Given the description of an element on the screen output the (x, y) to click on. 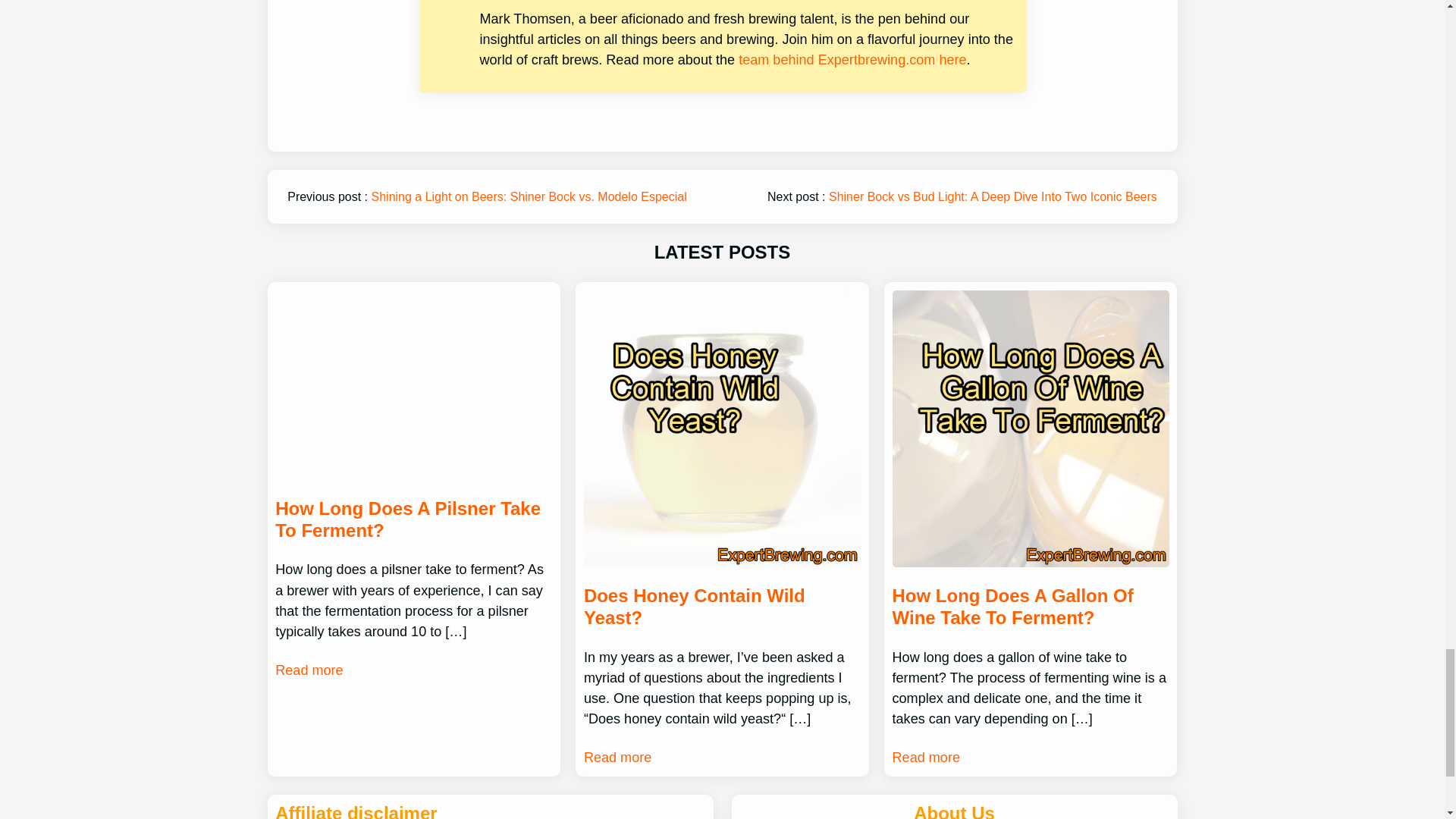
Does Honey Contain Wild Yeast? (721, 607)
team behind Expertbrewing.com here (852, 59)
How Long Does A Gallon Of Wine Take To Ferment? (1030, 607)
Shiner Bock vs Bud Light: A Deep Dive Into Two Iconic Beers (992, 195)
Read more (616, 757)
How Long Does A Pilsner Take To Ferment? (413, 519)
Read more (925, 757)
Shining a Light on Beers: Shiner Bock vs. Modelo Especial (529, 195)
Read more (308, 670)
